Given the description of an element on the screen output the (x, y) to click on. 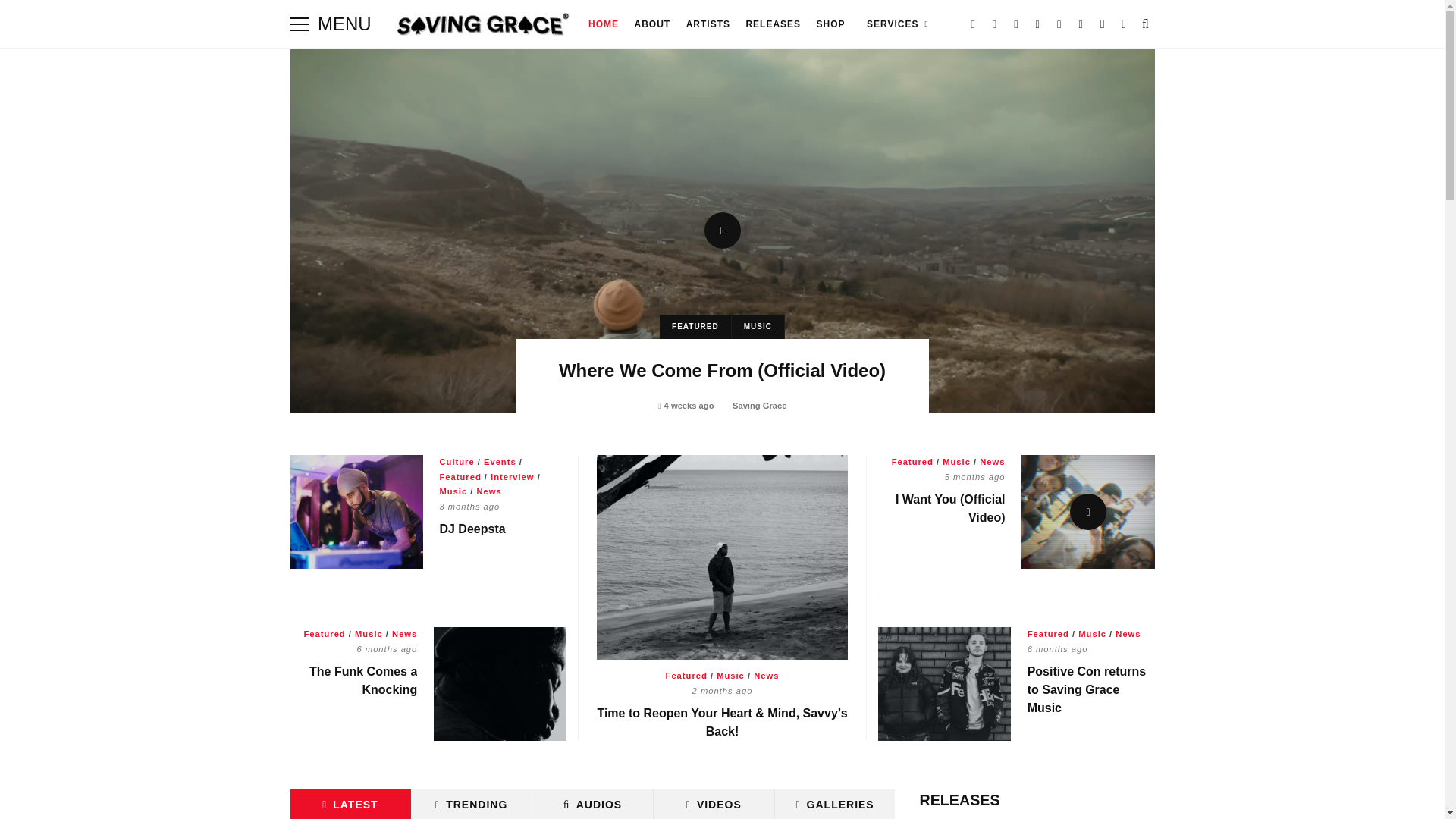
ABOUT (652, 24)
ARTISTS (707, 24)
SERVICES (895, 24)
Saving Grace (758, 405)
Saving Grace Music (483, 27)
RELEASES (772, 24)
